Given the description of an element on the screen output the (x, y) to click on. 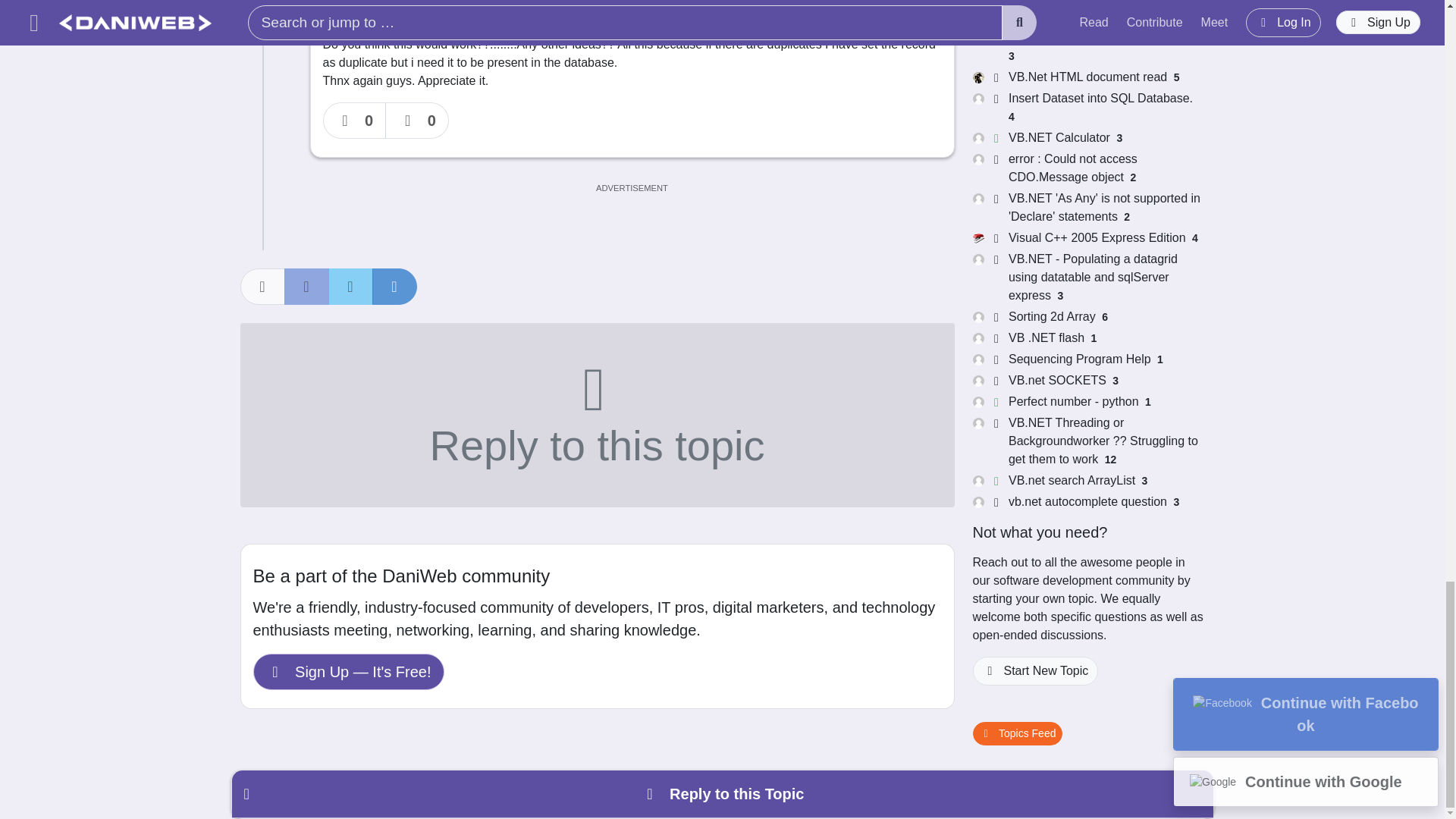
0 (416, 120)
0 (355, 120)
